Given the description of an element on the screen output the (x, y) to click on. 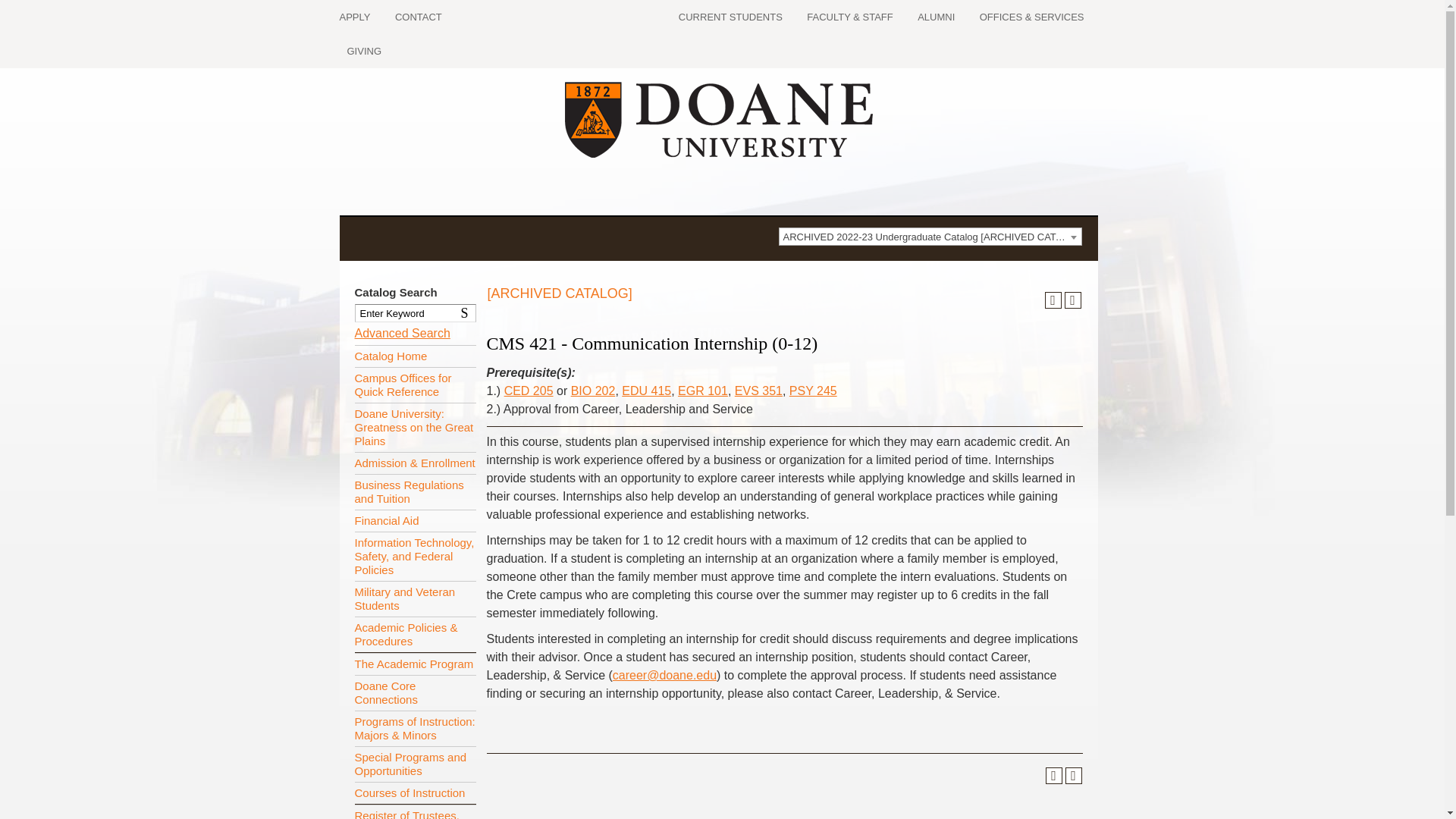
Catalog Home (415, 355)
Select a Catalog (929, 236)
GIVING (364, 50)
Advanced Search (402, 332)
CONTACT (418, 17)
CURRENT STUDENTS (730, 17)
Financial Aid (415, 520)
Doane Core Connections (415, 692)
Special Programs and Opportunities (415, 764)
BIO 202 (592, 390)
Doane University: Greatness on the Great Plains (415, 427)
The Academic Program (415, 663)
Enter Keyword   (415, 312)
Search (468, 312)
Search Keyword Field, required (415, 312)
